Given the description of an element on the screen output the (x, y) to click on. 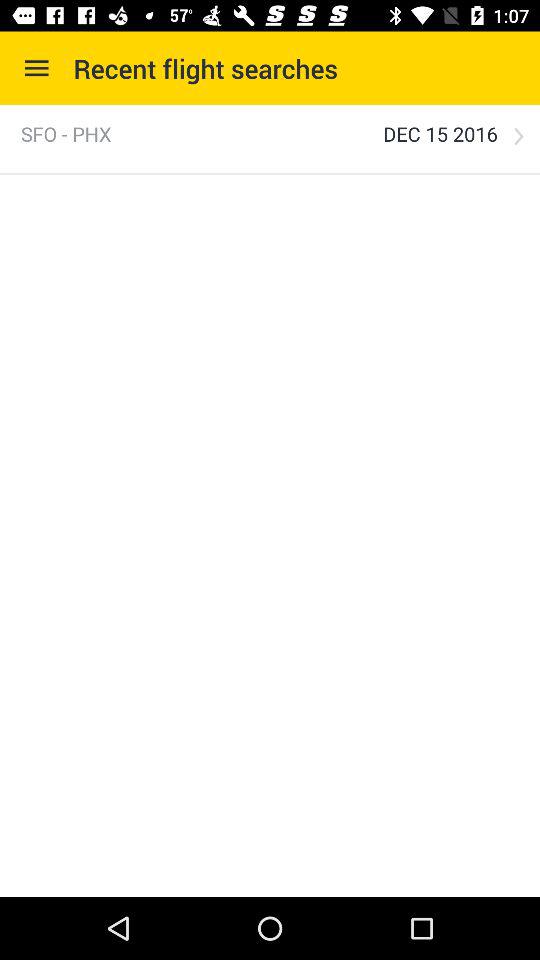
choose the sfo - phx icon (66, 133)
